Given the description of an element on the screen output the (x, y) to click on. 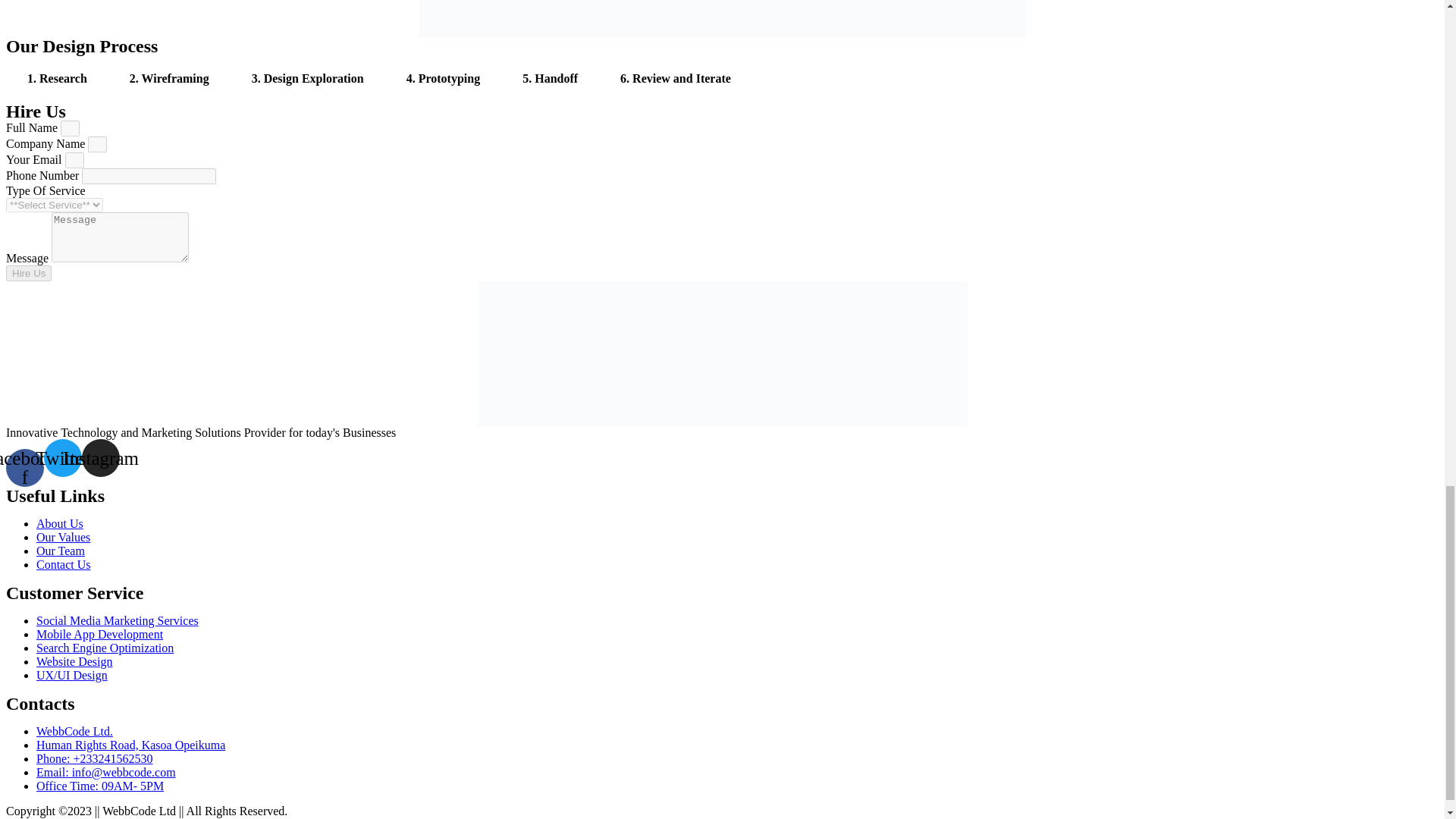
Search Engine Optimization (104, 646)
Mobile App Development (99, 633)
Social Media Marketing Services (117, 619)
Our Values (63, 535)
Contact Us (63, 563)
Twitter (62, 457)
WebbCode Ltd. (74, 730)
Facebook-f (24, 466)
Instagram (100, 457)
Office Time: 09AM- 5PM (99, 784)
Website Design (74, 660)
Hire Us (27, 273)
About Us (59, 522)
Human Rights Road, Kasoa Opeikuma (130, 744)
Our Team (60, 549)
